Given the description of an element on the screen output the (x, y) to click on. 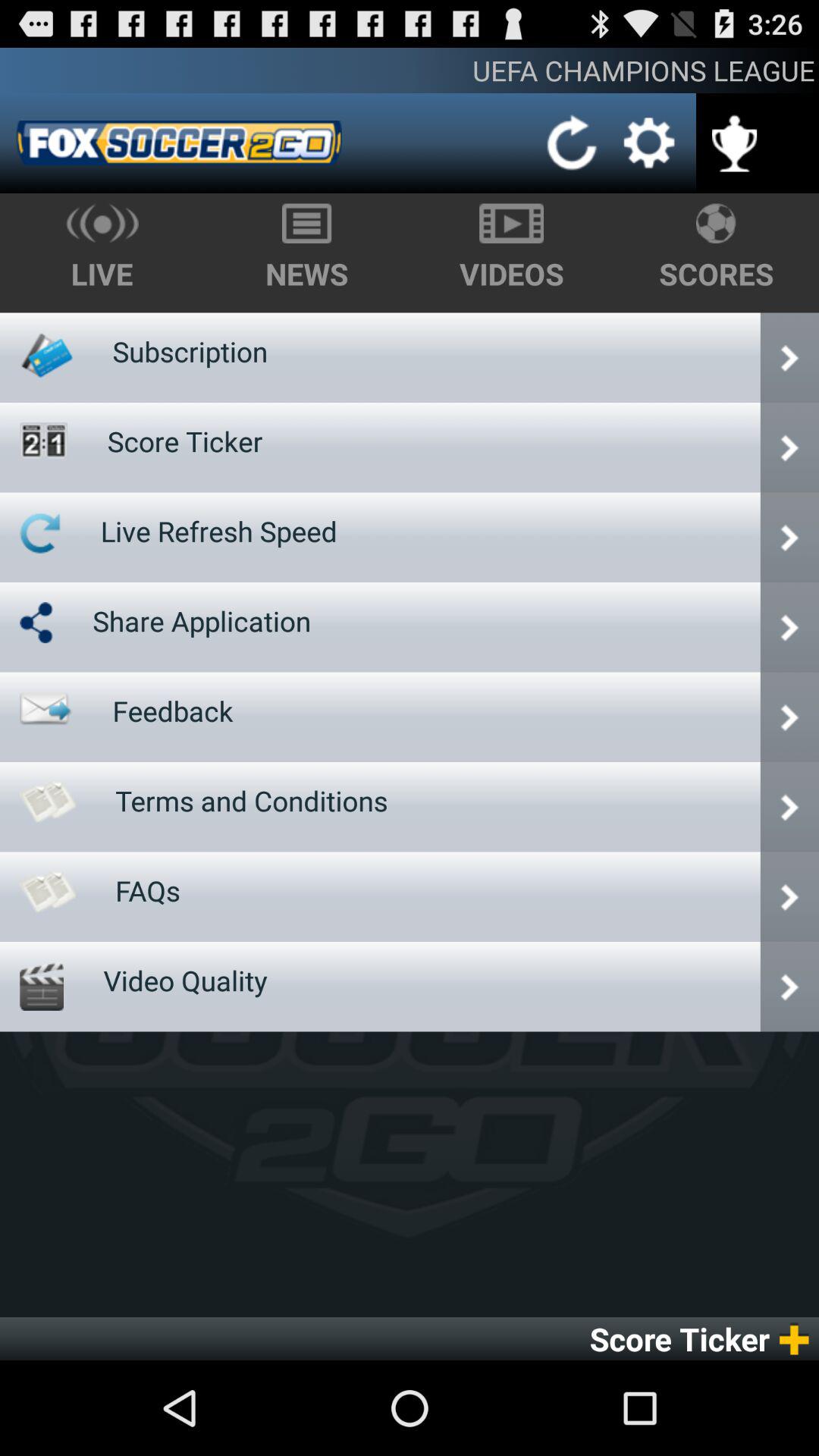
jump until the subscription app (189, 351)
